Given the description of an element on the screen output the (x, y) to click on. 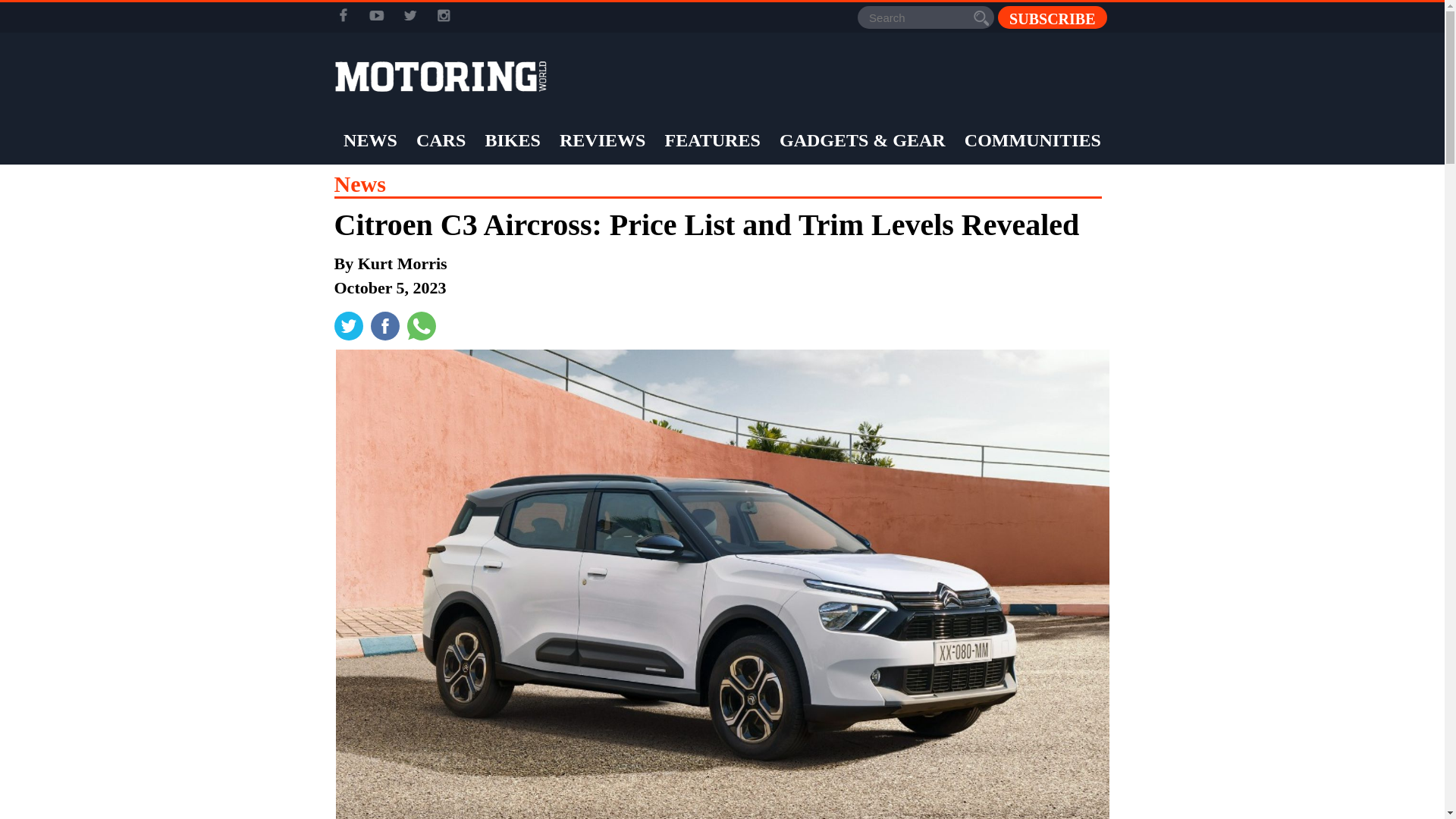
Posts by Kurt Morris (402, 262)
Kurt Morris (402, 262)
News (359, 183)
NEWS (370, 140)
CARS (440, 140)
REVIEWS (602, 140)
BIKES (511, 140)
COMMUNITIES (1032, 140)
FEATURES (712, 140)
SUBSCRIBE (1051, 16)
